Given the description of an element on the screen output the (x, y) to click on. 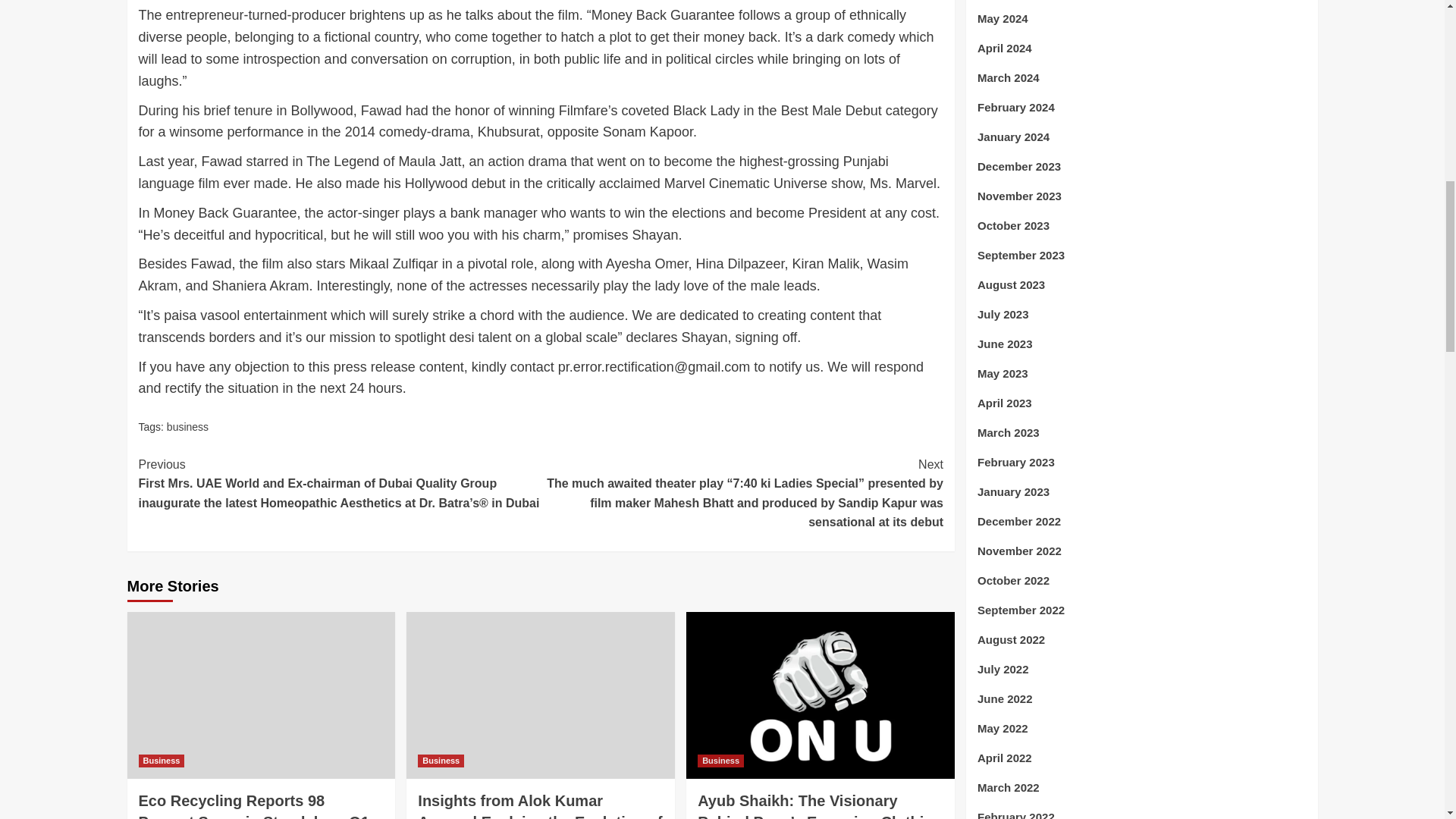
Business (720, 760)
business (187, 426)
Business (161, 760)
Business (440, 760)
